Given the description of an element on the screen output the (x, y) to click on. 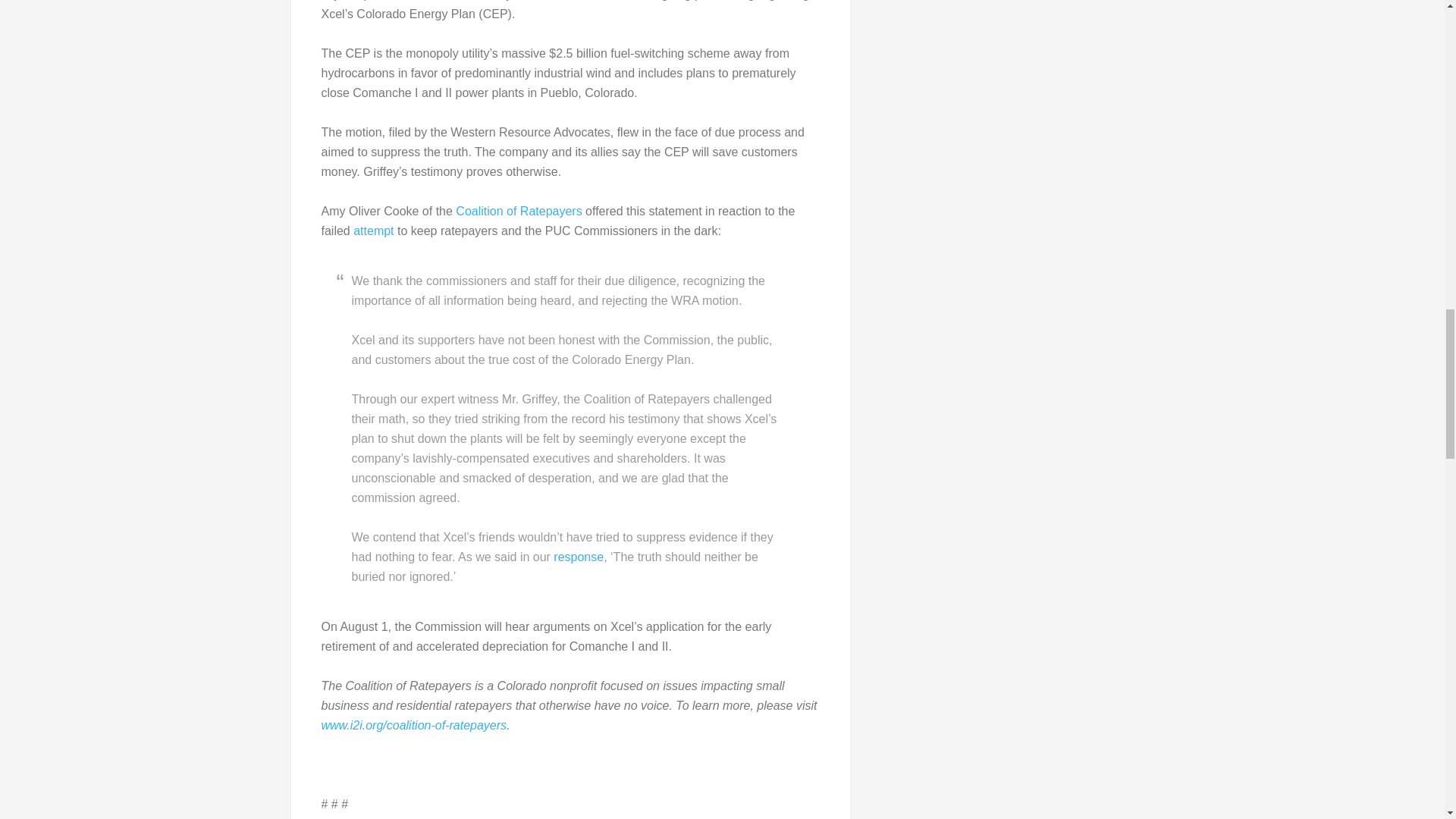
Coalition of Ratepayers (517, 210)
attempt (373, 230)
response (578, 556)
